Given the description of an element on the screen output the (x, y) to click on. 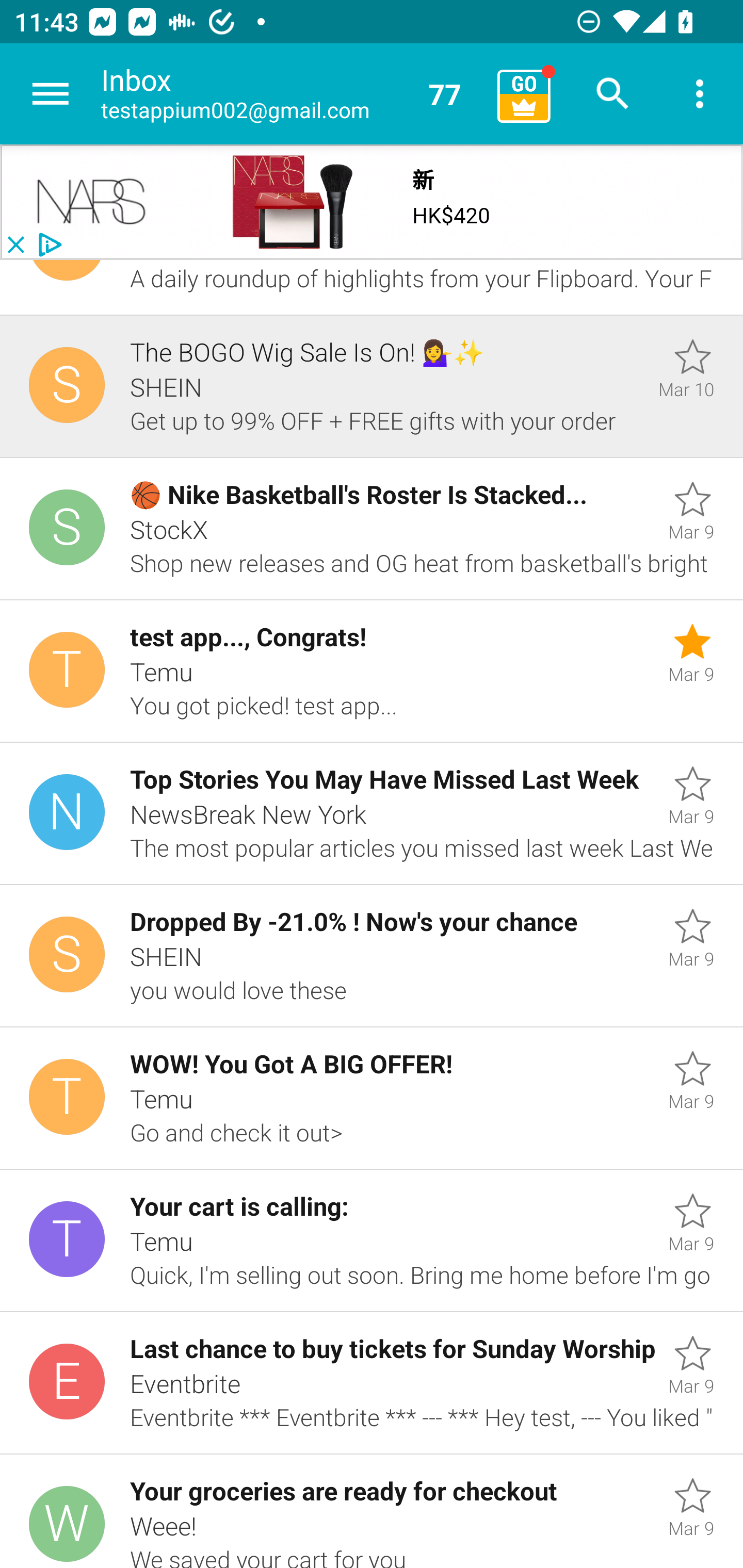
Navigate up (50, 93)
Inbox testappium002@gmail.com 77 (291, 93)
Search (612, 93)
More options (699, 93)
   (91, 202)
close_button (14, 245)
privacy_small (47, 245)
